Given the description of an element on the screen output the (x, y) to click on. 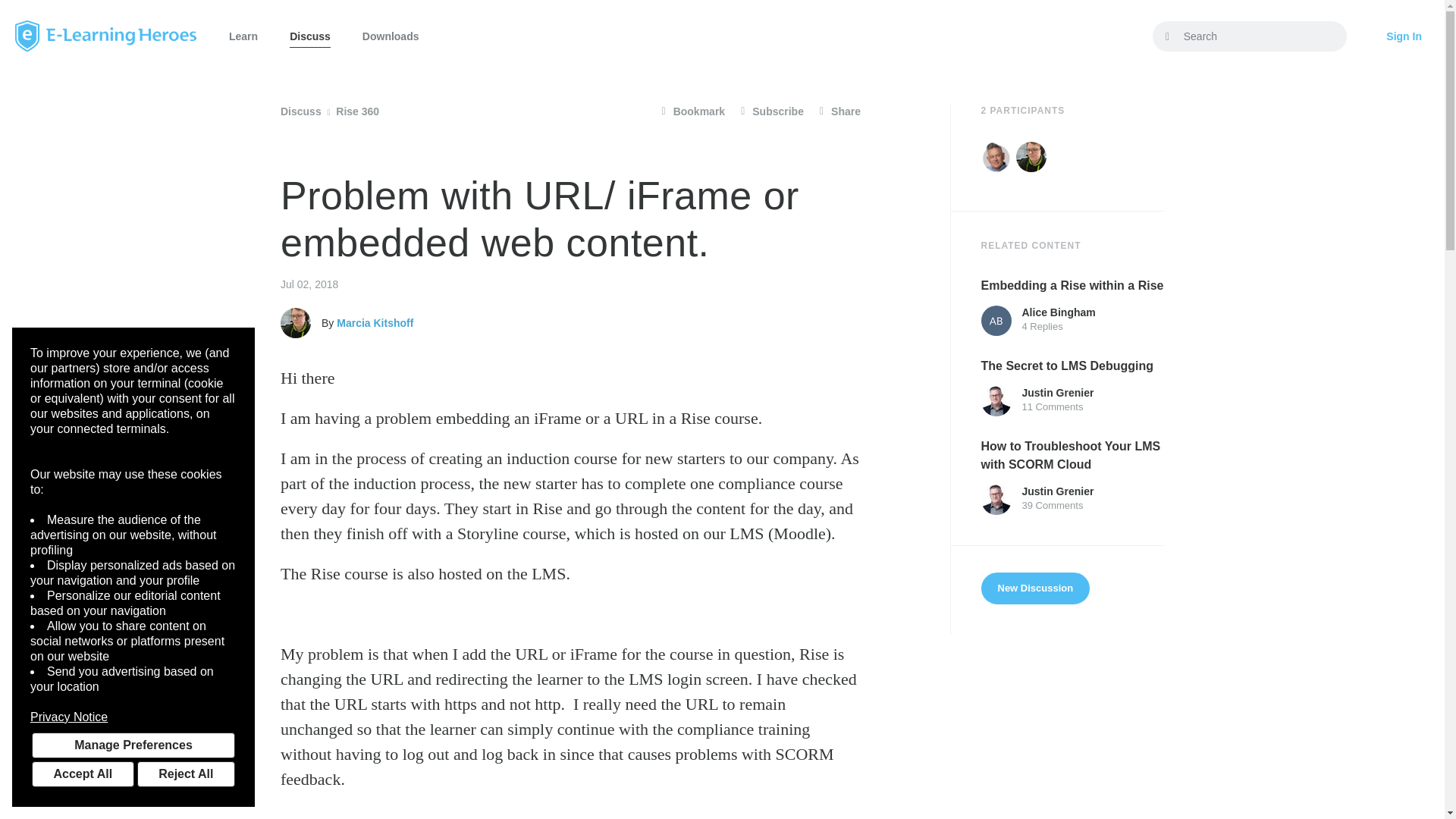
Reject All (185, 774)
Marcia Kitshoff (1031, 156)
Marcia Kitshoff (296, 322)
Justin Grenier (996, 400)
E-Learning Heroes (105, 36)
Tom Kuhlmann (996, 156)
Alice Bingham (996, 320)
Accept All (82, 774)
Manage Preferences (133, 745)
Sign In (1404, 36)
Justin Grenier (996, 499)
Privacy Notice (132, 717)
